Given the description of an element on the screen output the (x, y) to click on. 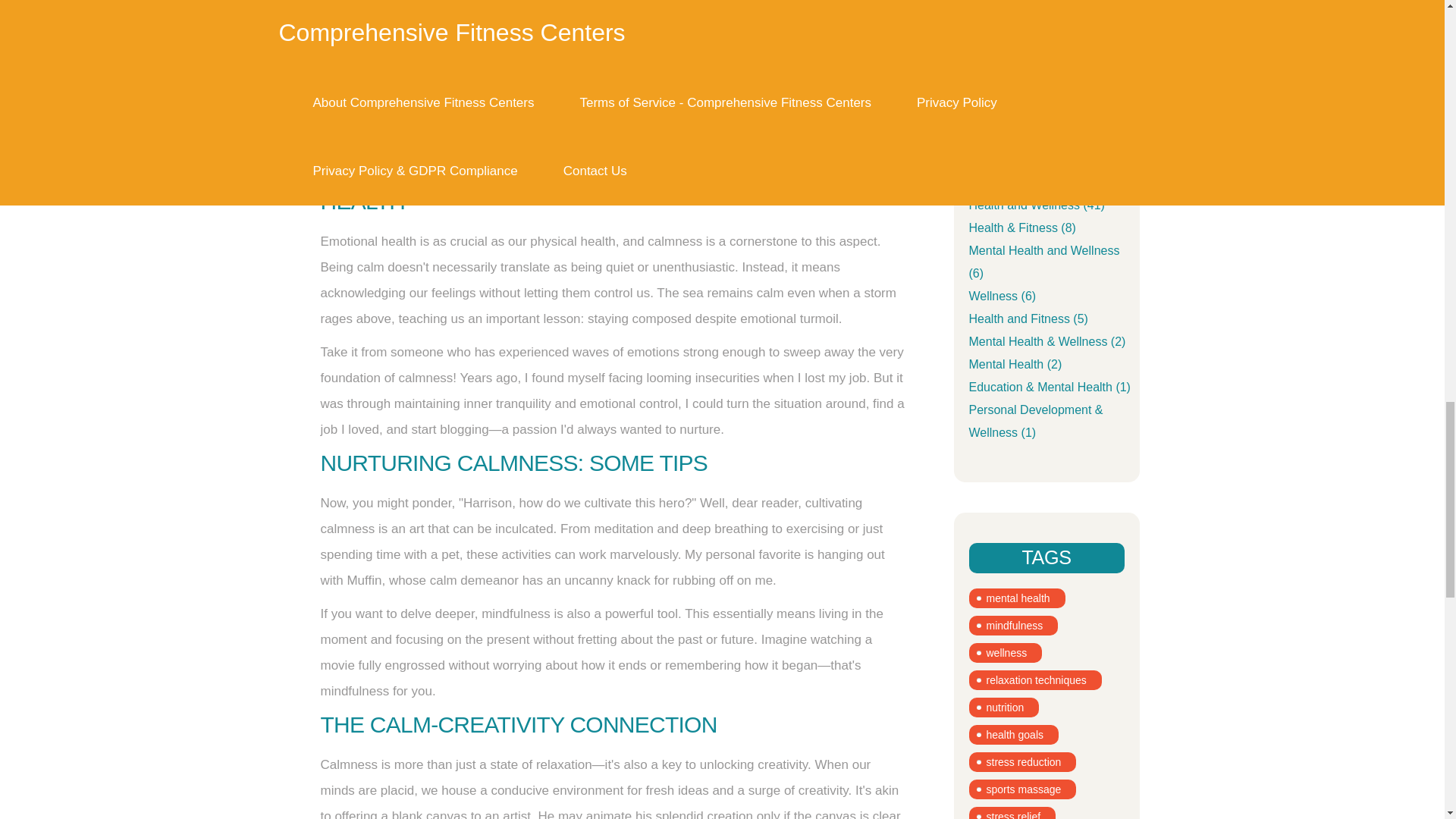
relaxation techniques (1035, 680)
mindfulness (1013, 625)
health goals (1014, 734)
stress relief (1013, 812)
mental health (1017, 598)
sports massage (1023, 789)
nutrition (1004, 707)
stress reduction (1023, 762)
wellness (1005, 652)
